Given the description of an element on the screen output the (x, y) to click on. 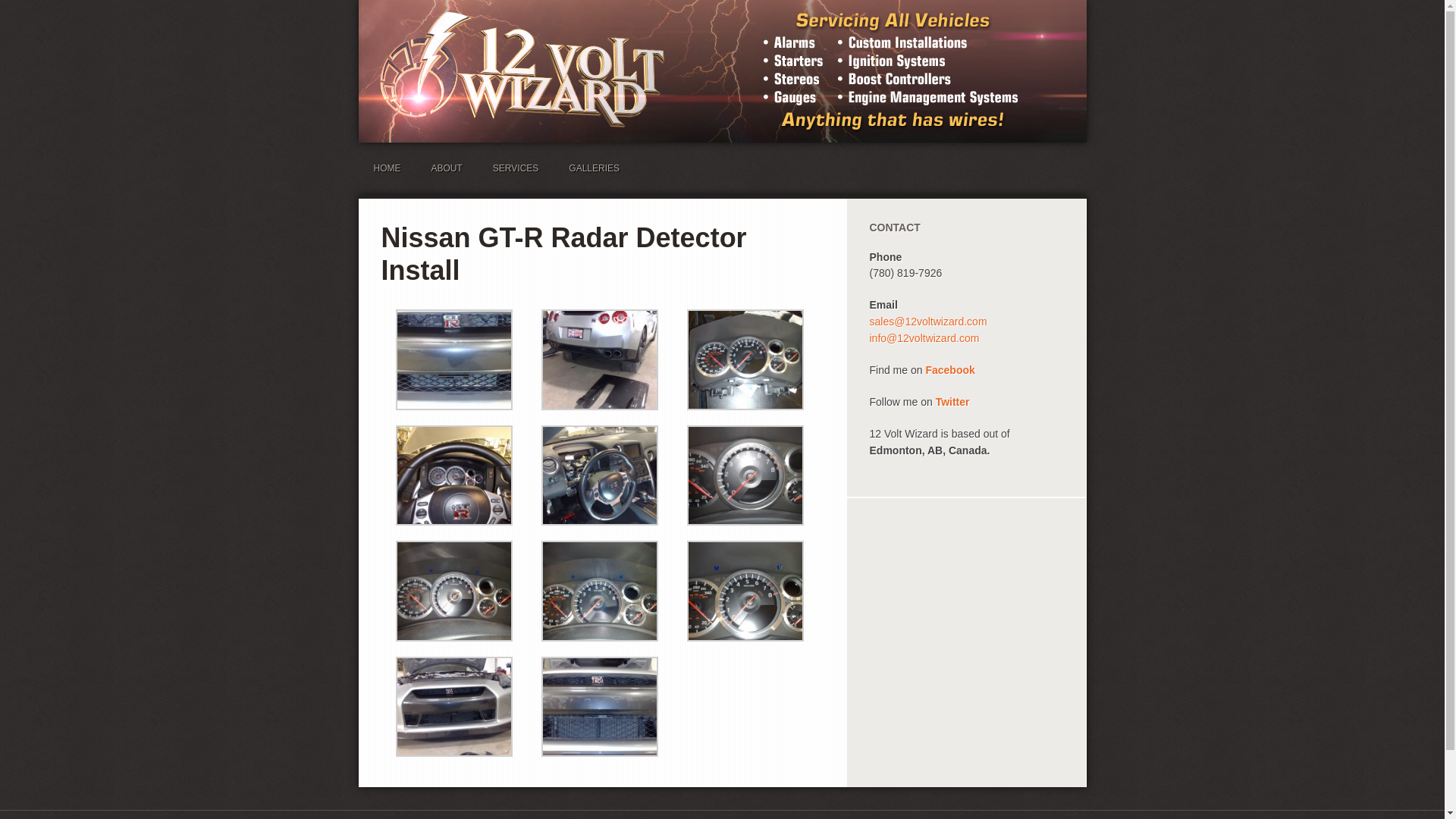
sales@12voltwizard.com Element type: text (927, 321)
HOME Element type: text (386, 168)
GALLERIES Element type: text (593, 168)
info@12voltwizard.com Element type: text (924, 338)
Facebook Element type: text (949, 370)
SERVICES Element type: text (515, 168)
ABOUT Element type: text (445, 168)
Twitter Element type: text (952, 401)
